Given the description of an element on the screen output the (x, y) to click on. 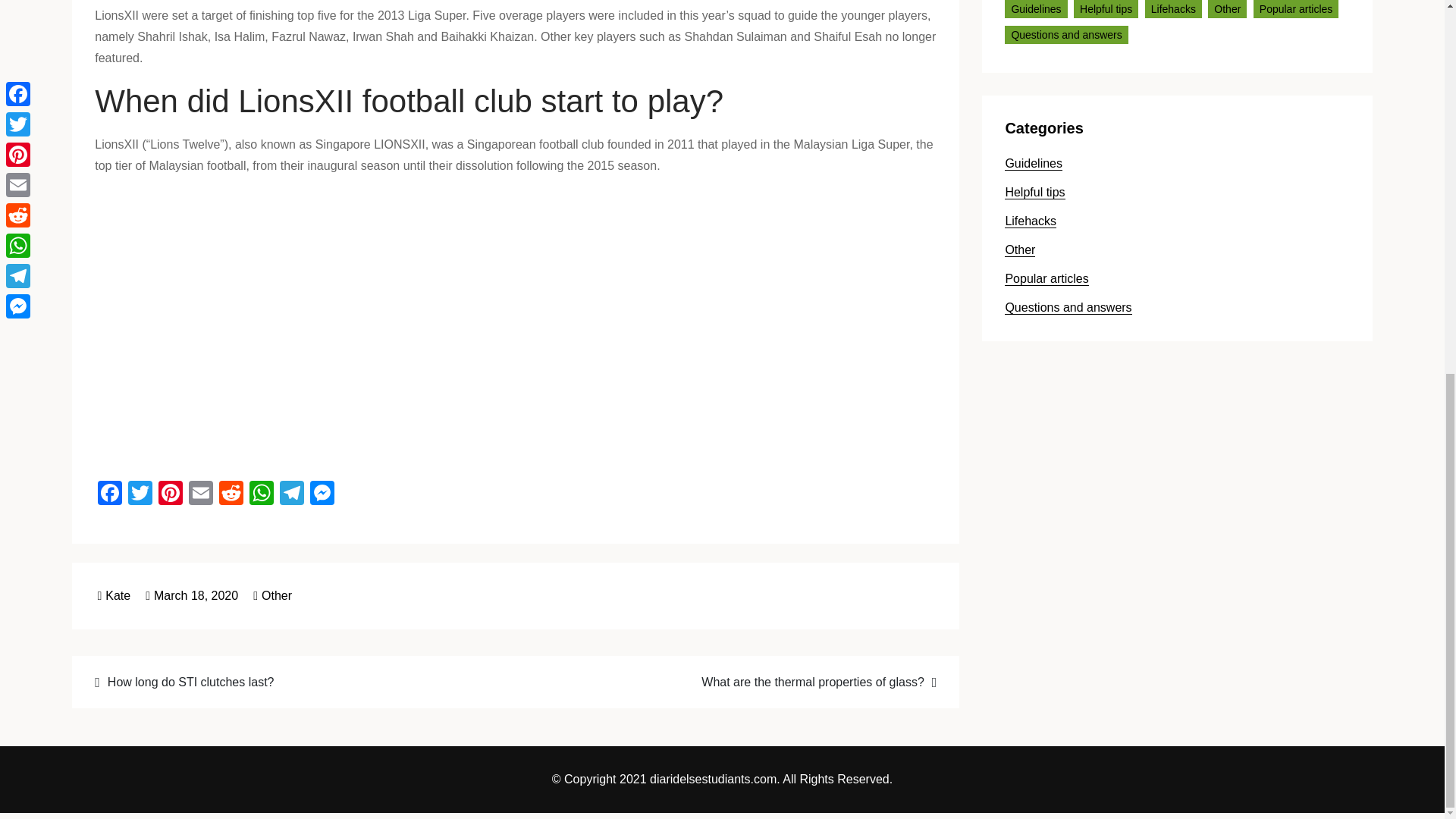
Lifehacks (1173, 9)
Questions and answers (1065, 34)
What are the thermal properties of glass? (735, 681)
2015 FA Cup Semi Final Terengganu vs LionsXII (336, 325)
How long do STI clutches last? (295, 681)
WhatsApp (261, 494)
Pinterest (170, 494)
Facebook (109, 494)
Messenger (322, 494)
Email (200, 494)
Twitter (140, 494)
March 18, 2020 (191, 594)
Other (1227, 9)
Messenger (322, 494)
Telegram (291, 494)
